Given the description of an element on the screen output the (x, y) to click on. 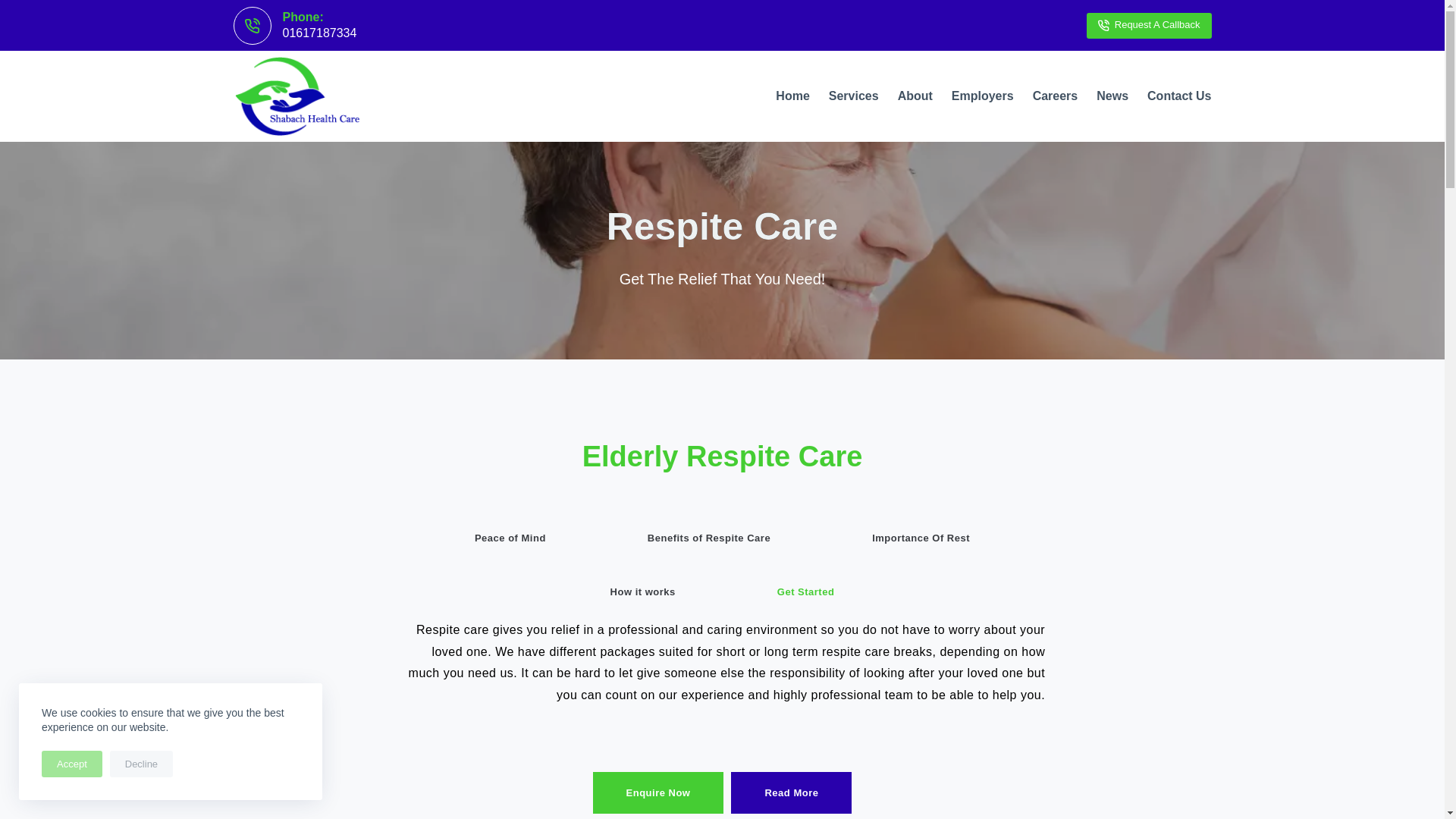
Request A Callback (1148, 24)
Read More (790, 793)
Skip to content (15, 7)
Get Started (805, 591)
Benefits of Respite Care (708, 537)
01617187334 (319, 31)
Employers (982, 95)
Decline (141, 764)
Importance Of Rest (920, 537)
Enquire Now (657, 793)
Peace of Mind (510, 537)
Accept (71, 764)
How it works (642, 591)
